Given the description of an element on the screen output the (x, y) to click on. 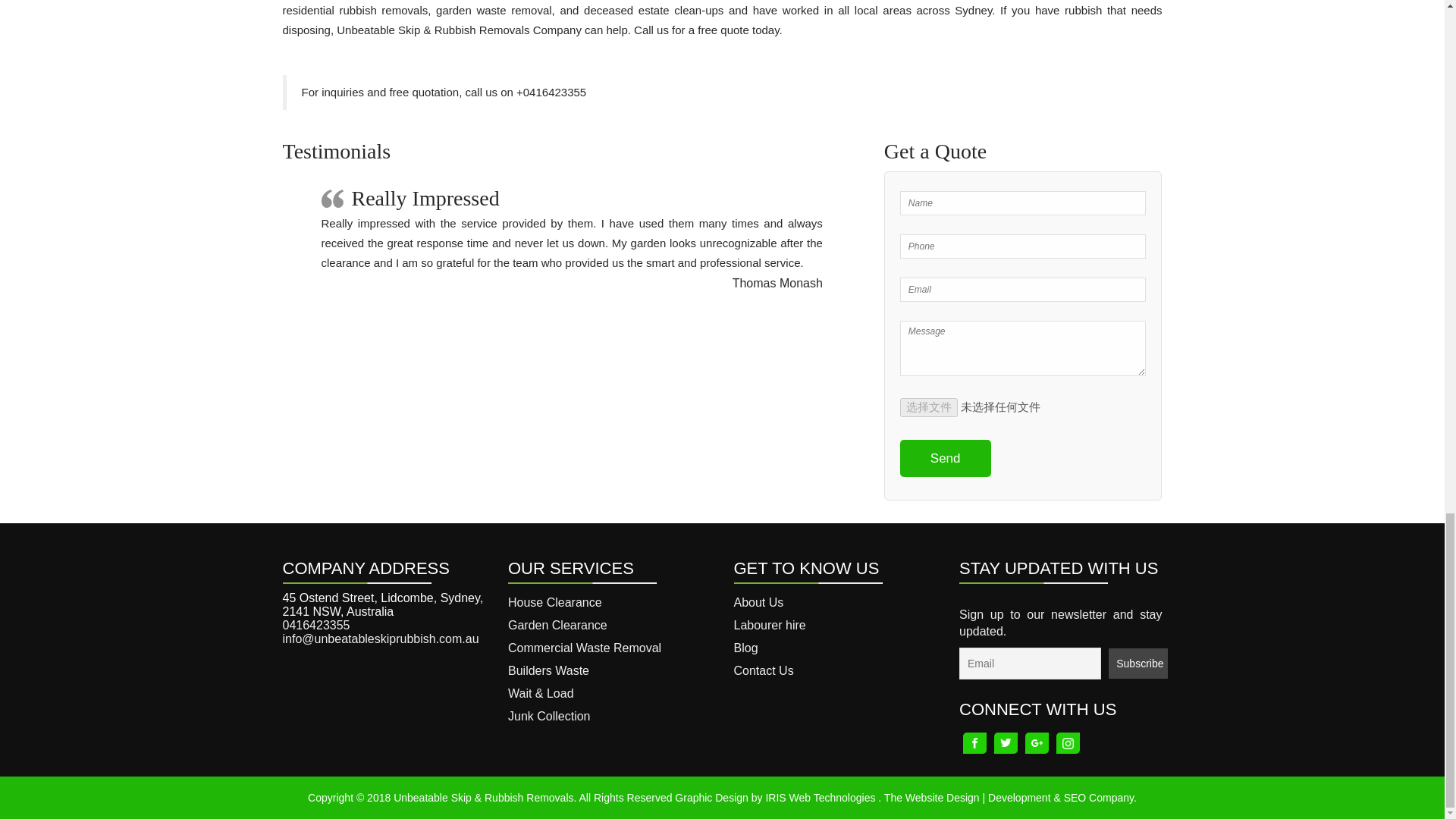
Subscribe (1137, 663)
Send (945, 457)
